Given the description of an element on the screen output the (x, y) to click on. 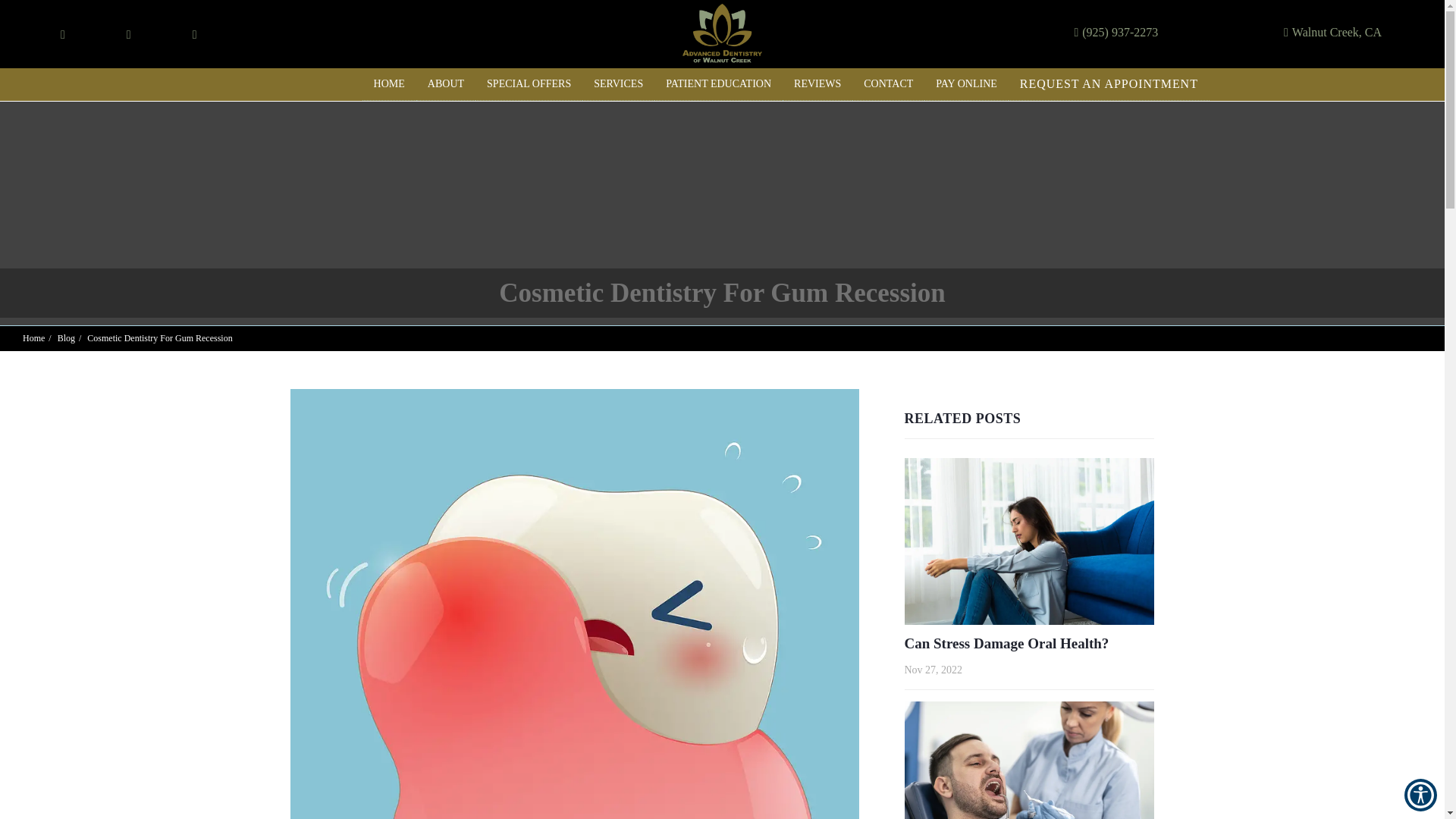
PATIENT EDUCATION (718, 83)
User way accessibility widget icon (1420, 795)
SERVICES (617, 83)
Walnut Creek, CA (1332, 32)
ABOUT (446, 83)
HOME (389, 83)
Brand Logo (721, 34)
SPECIAL OFFERS (529, 83)
